Given the description of an element on the screen output the (x, y) to click on. 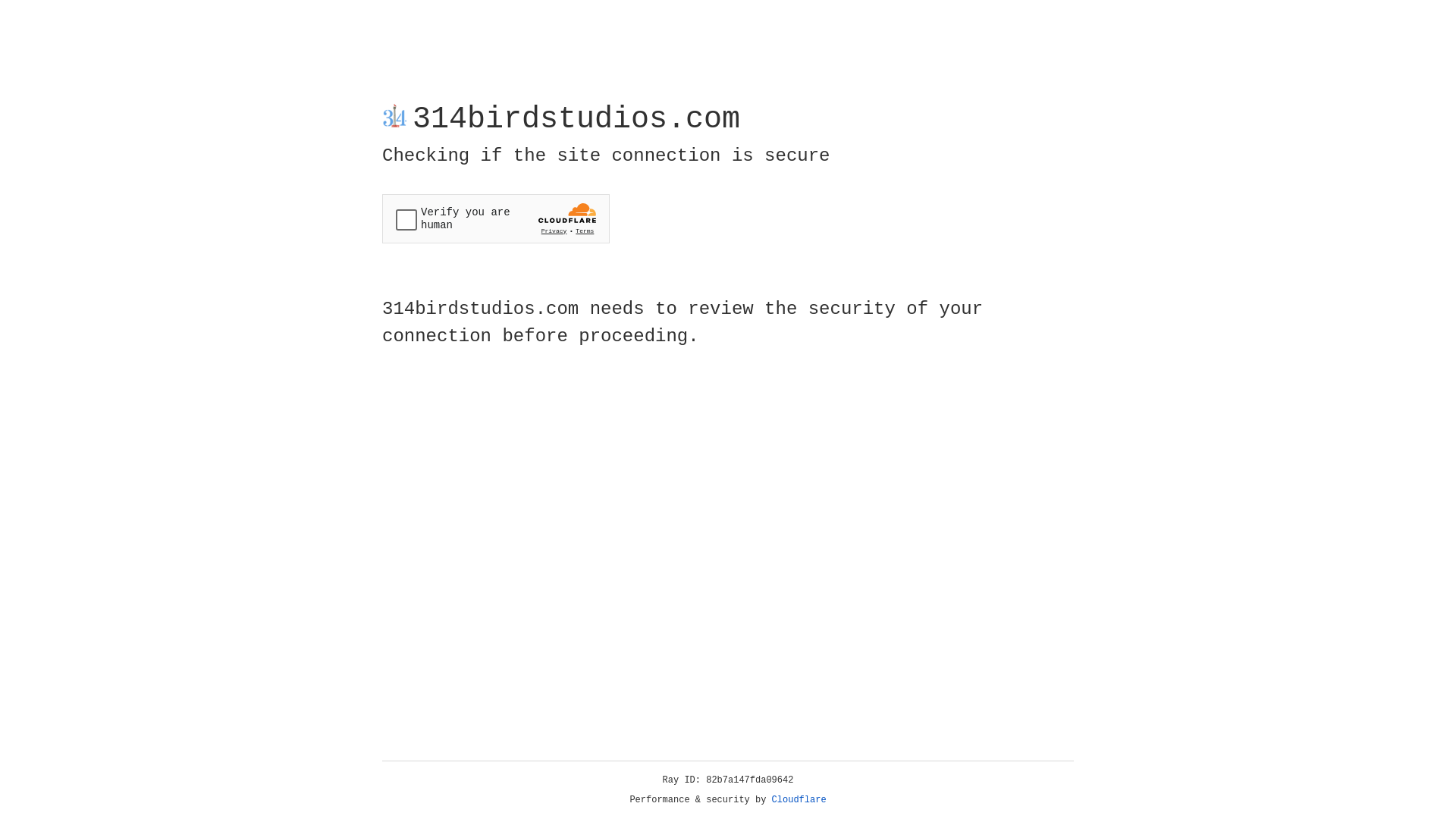
Cloudflare Element type: text (798, 799)
Widget containing a Cloudflare security challenge Element type: hover (495, 218)
